Given the description of an element on the screen output the (x, y) to click on. 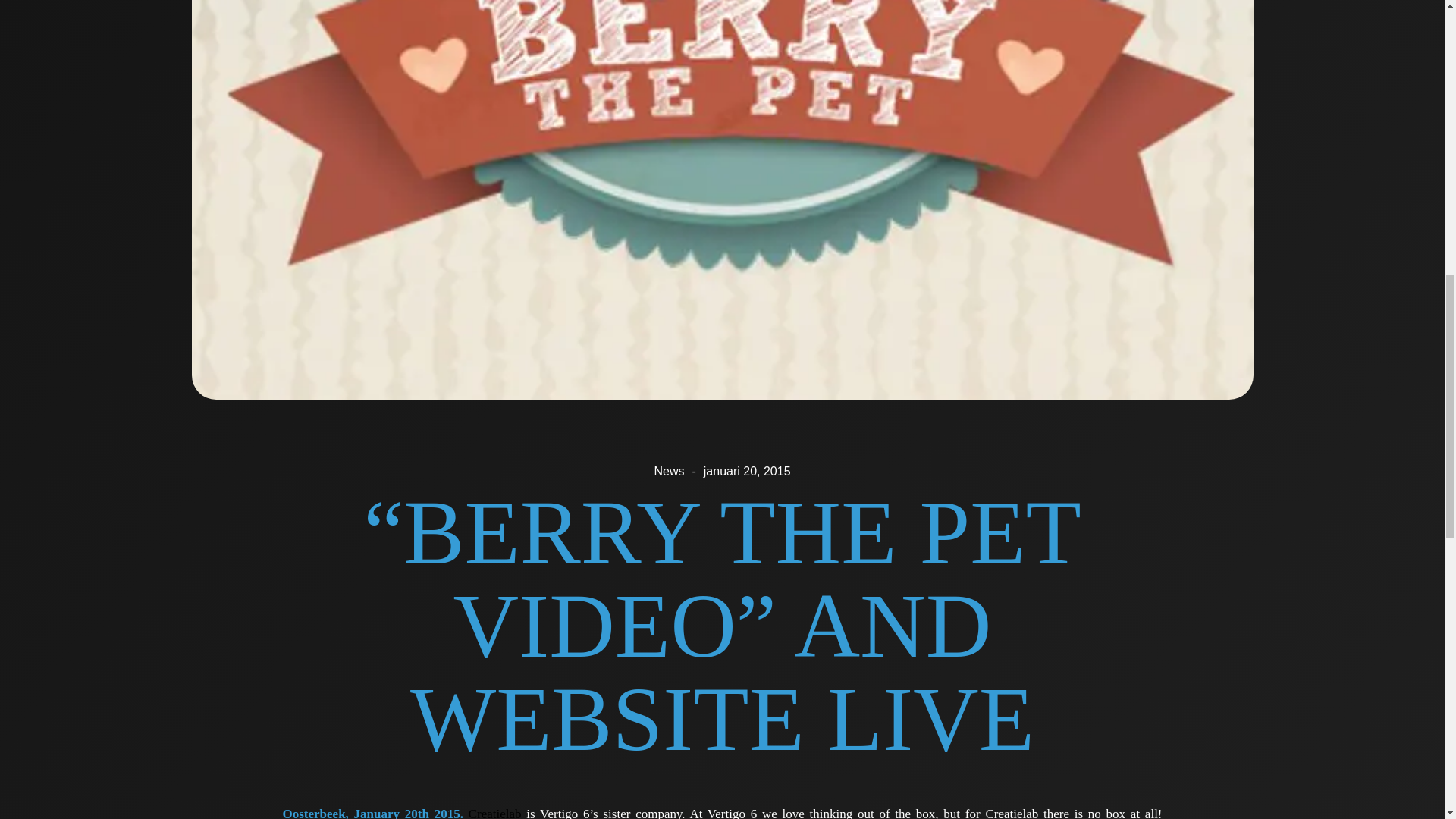
News (668, 471)
Creatielab (494, 812)
januari 20, 2015 (746, 471)
Creatielab (494, 812)
